Given the description of an element on the screen output the (x, y) to click on. 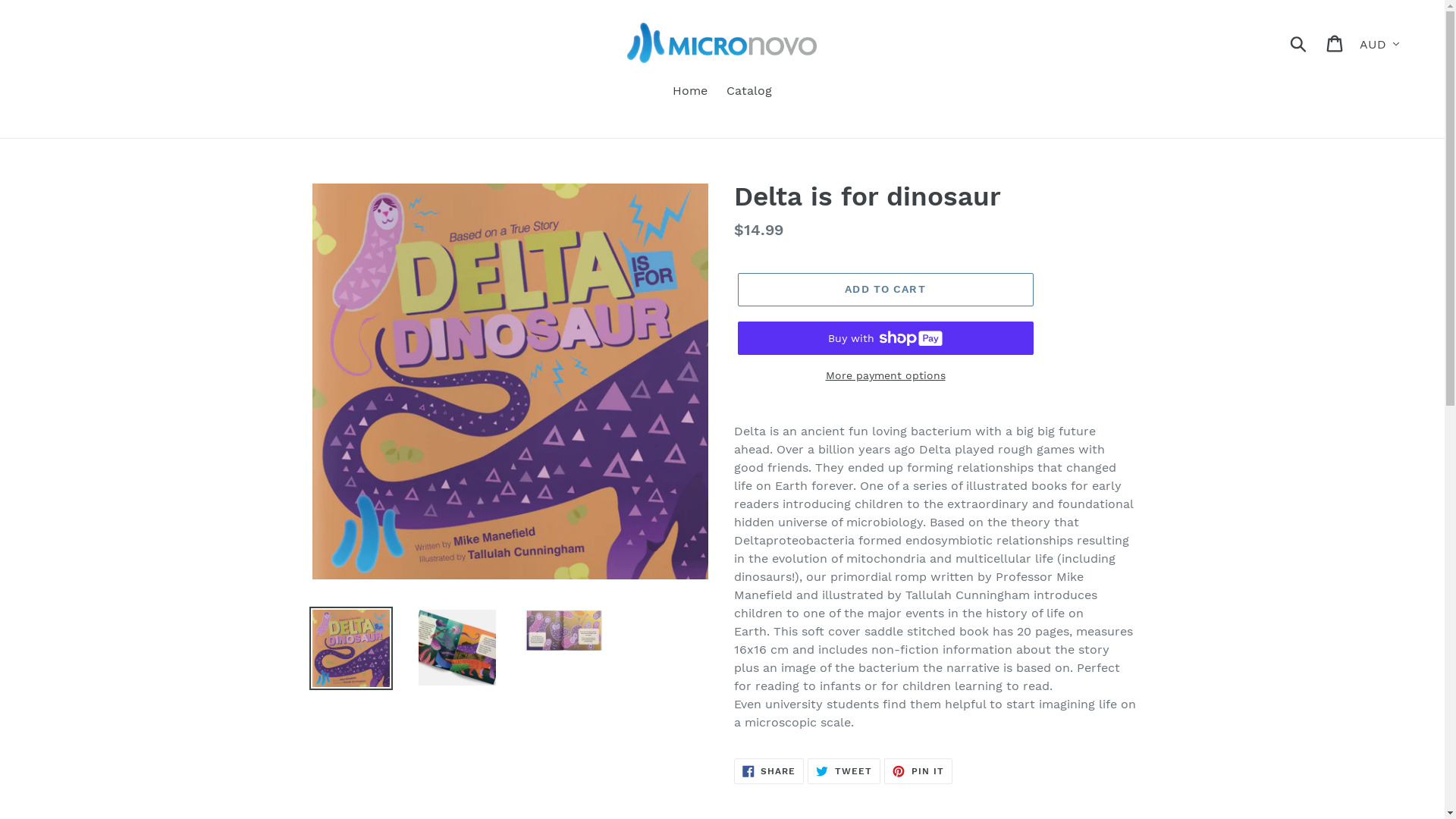
More payment options Element type: text (884, 375)
ADD TO CART Element type: text (884, 289)
Home Element type: text (690, 91)
Cart Element type: text (1335, 42)
TWEET
TWEET ON TWITTER Element type: text (843, 771)
PIN IT
PIN ON PINTEREST Element type: text (918, 771)
SHARE
SHARE ON FACEBOOK Element type: text (769, 771)
Catalog Element type: text (748, 91)
Submit Element type: text (1298, 42)
